Given the description of an element on the screen output the (x, y) to click on. 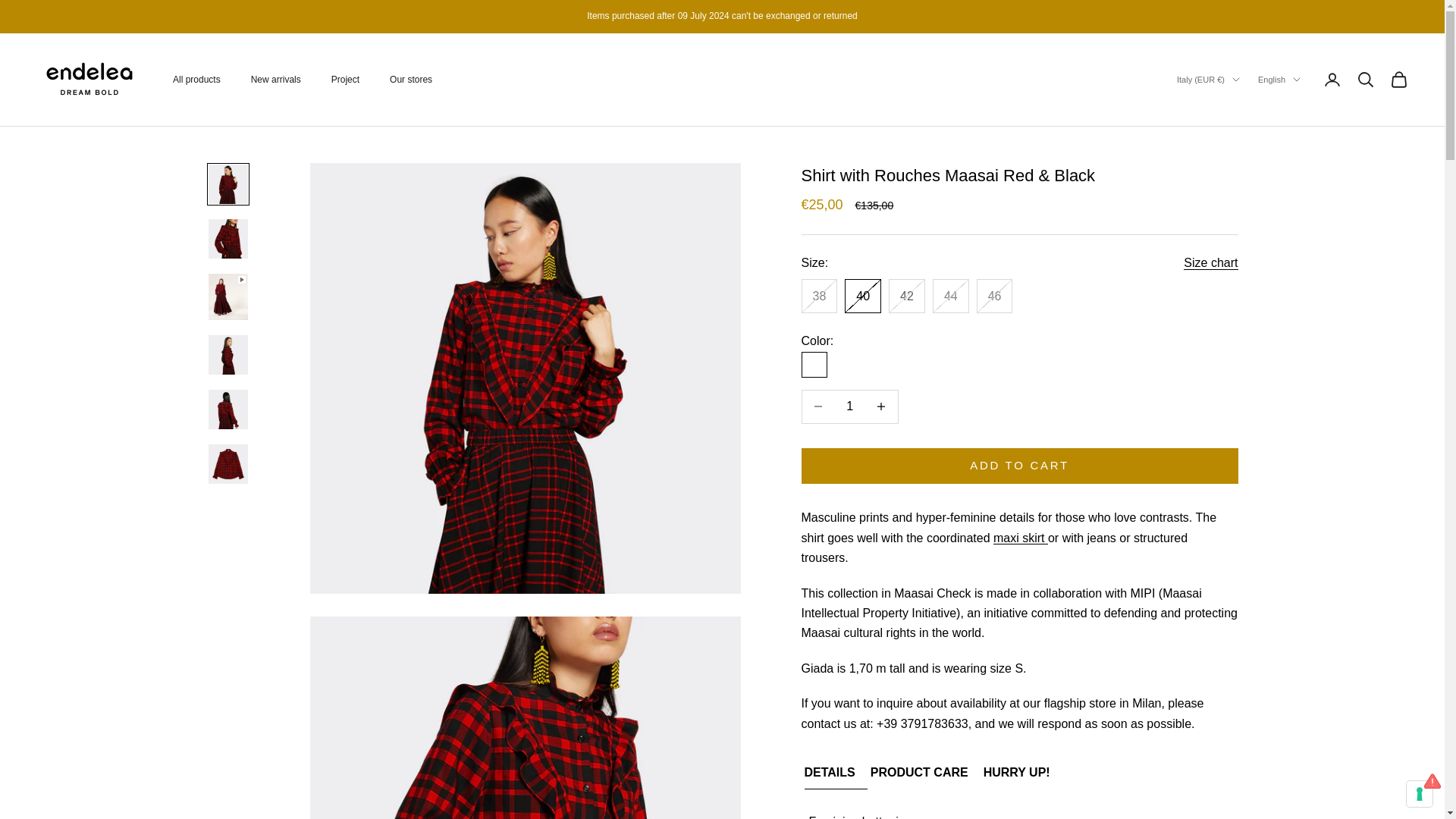
1 (849, 406)
Endelea (89, 79)
maxi skirt (1020, 537)
Our stores (411, 79)
